Given the description of an element on the screen output the (x, y) to click on. 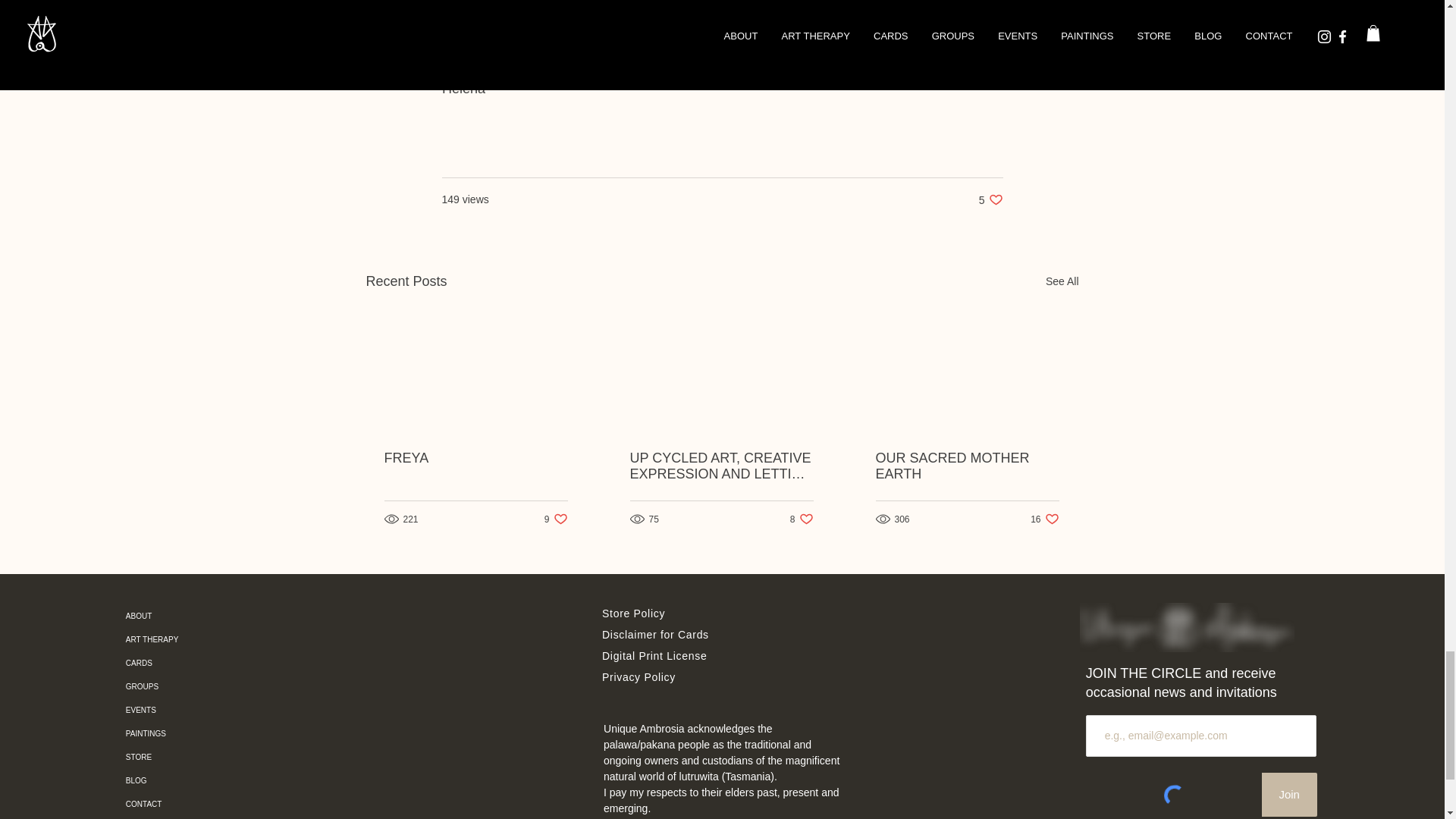
FREYA (990, 199)
See All (475, 458)
UP CYCLED ART, CREATIVE EXPRESSION AND LETTING GO. (801, 518)
OUR SACRED MOTHER EARTH (1061, 281)
